Given the description of an element on the screen output the (x, y) to click on. 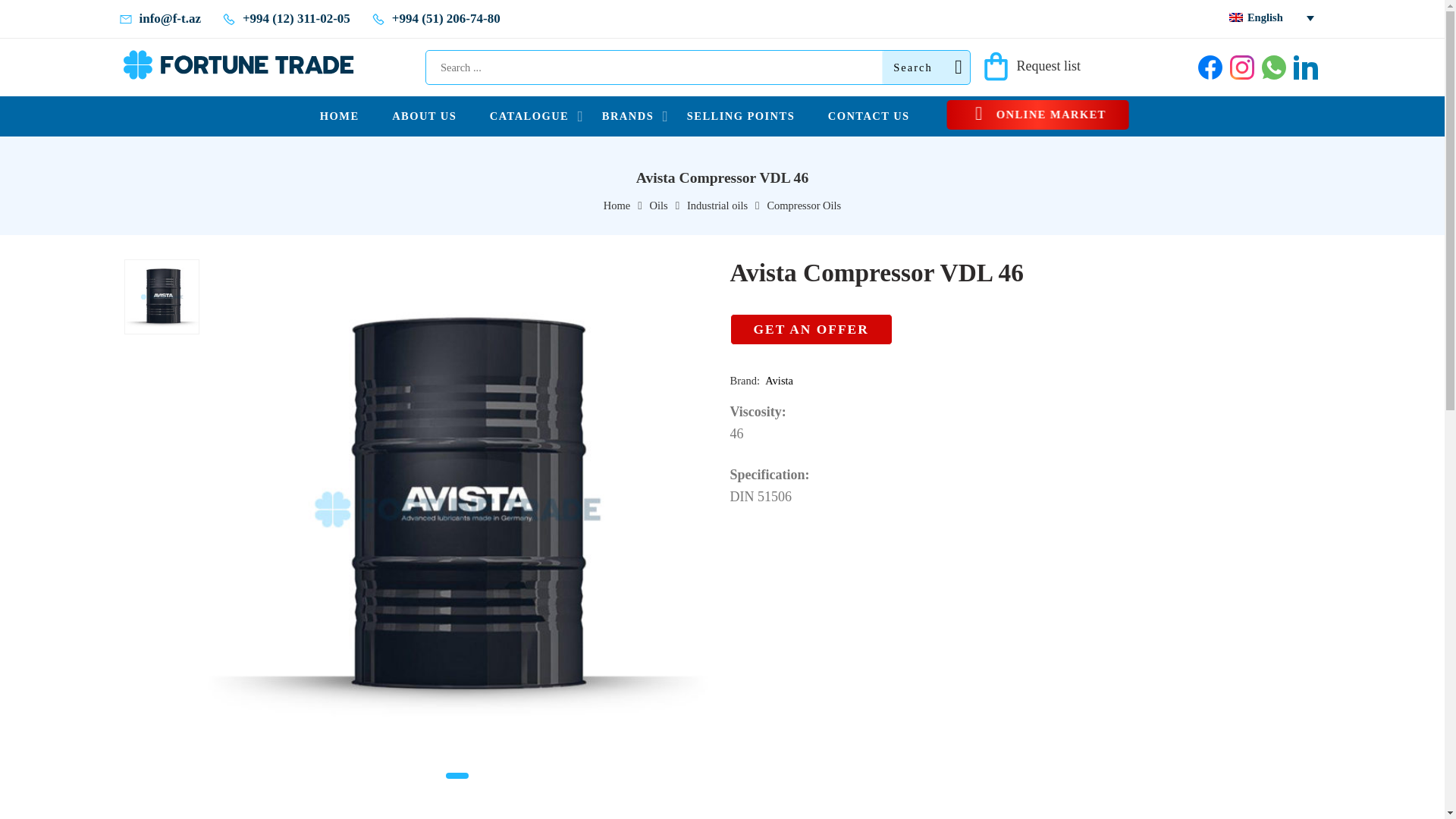
ABOUT US (424, 116)
About us (424, 116)
instagram (1241, 67)
whatsapp (1273, 67)
HOME (339, 116)
CATALOGUE (529, 116)
Home (339, 116)
Catalogue (529, 116)
Search (926, 67)
linkedin (1305, 67)
English (1268, 17)
Group (237, 64)
Asset 1 (1210, 67)
